Given the description of an element on the screen output the (x, y) to click on. 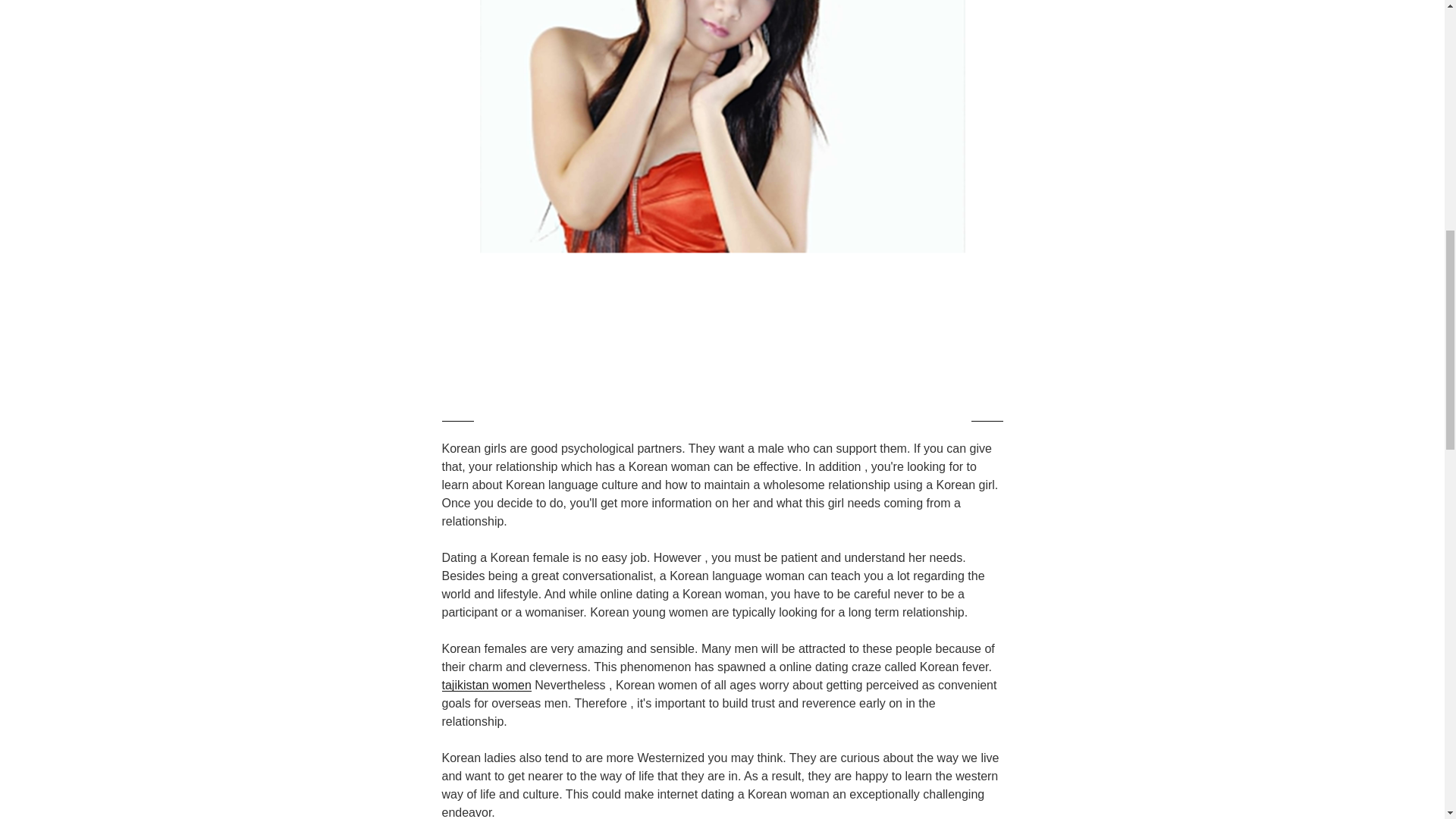
tajikistan women (486, 684)
